Given the description of an element on the screen output the (x, y) to click on. 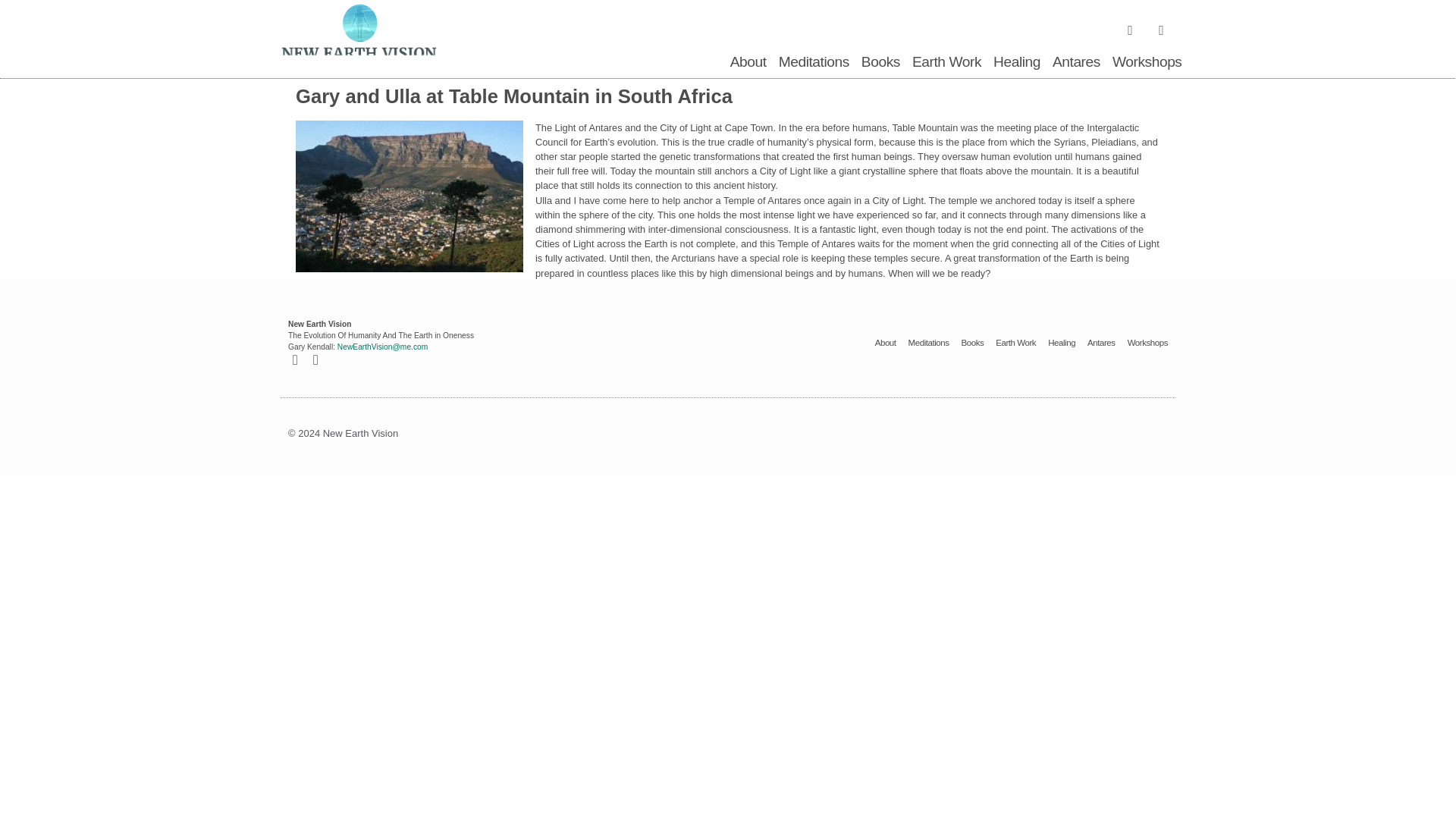
Healing (1016, 61)
Workshops (1147, 61)
About (885, 342)
Antares (1076, 61)
About (748, 61)
Books (880, 61)
Healing (1061, 342)
Books (972, 342)
Meditations (813, 61)
Earth Work (946, 61)
